Given the description of an element on the screen output the (x, y) to click on. 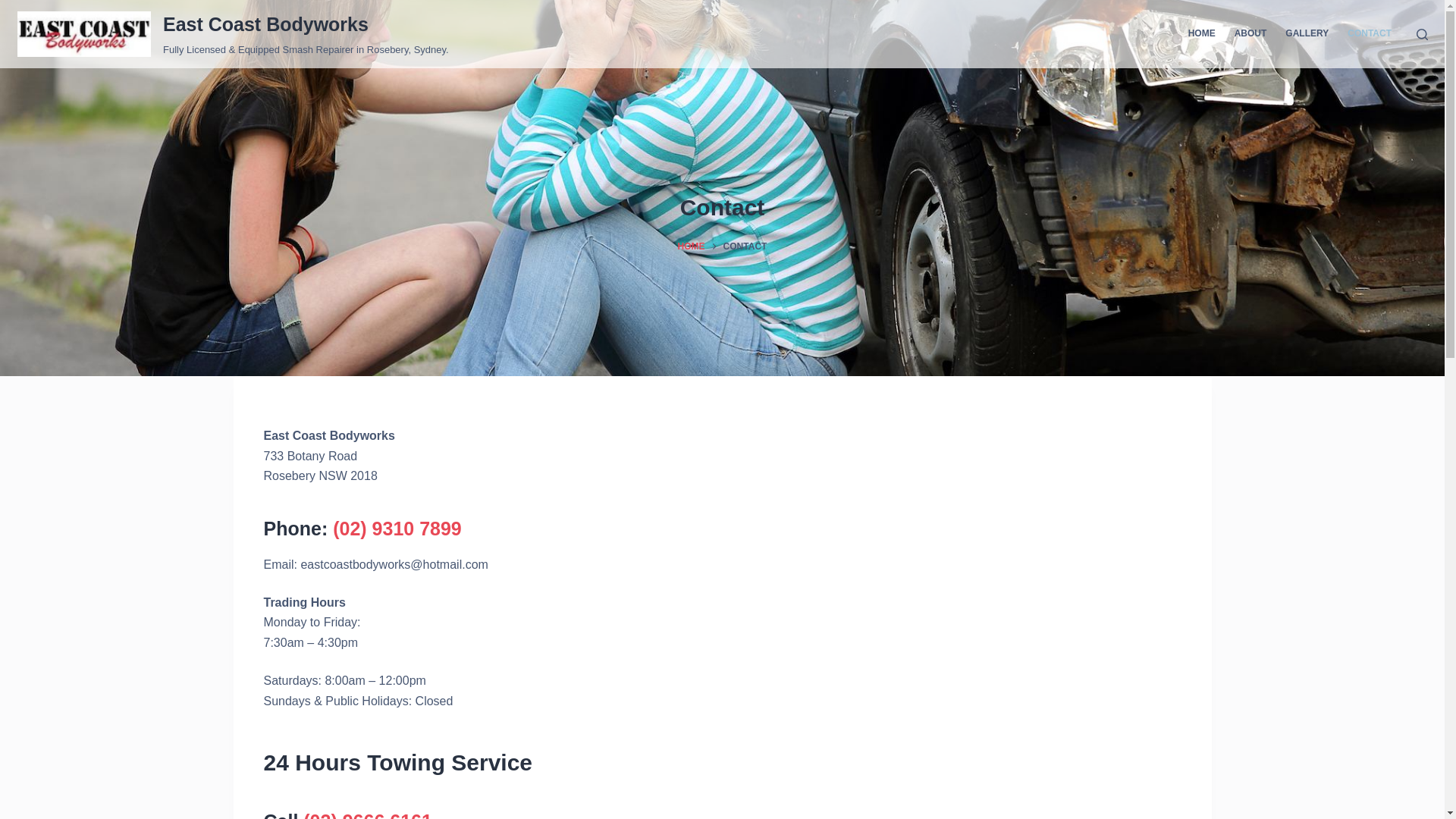
ABOUT Element type: text (1250, 34)
(02) 9310 7899 Element type: text (396, 528)
CONTACT Element type: text (1369, 34)
HOME Element type: text (1201, 34)
Skip to content Element type: text (15, 7)
GALLERY Element type: text (1307, 34)
HOME Element type: text (691, 246)
East Coast Bodyworks Element type: text (265, 23)
